Given the description of an element on the screen output the (x, y) to click on. 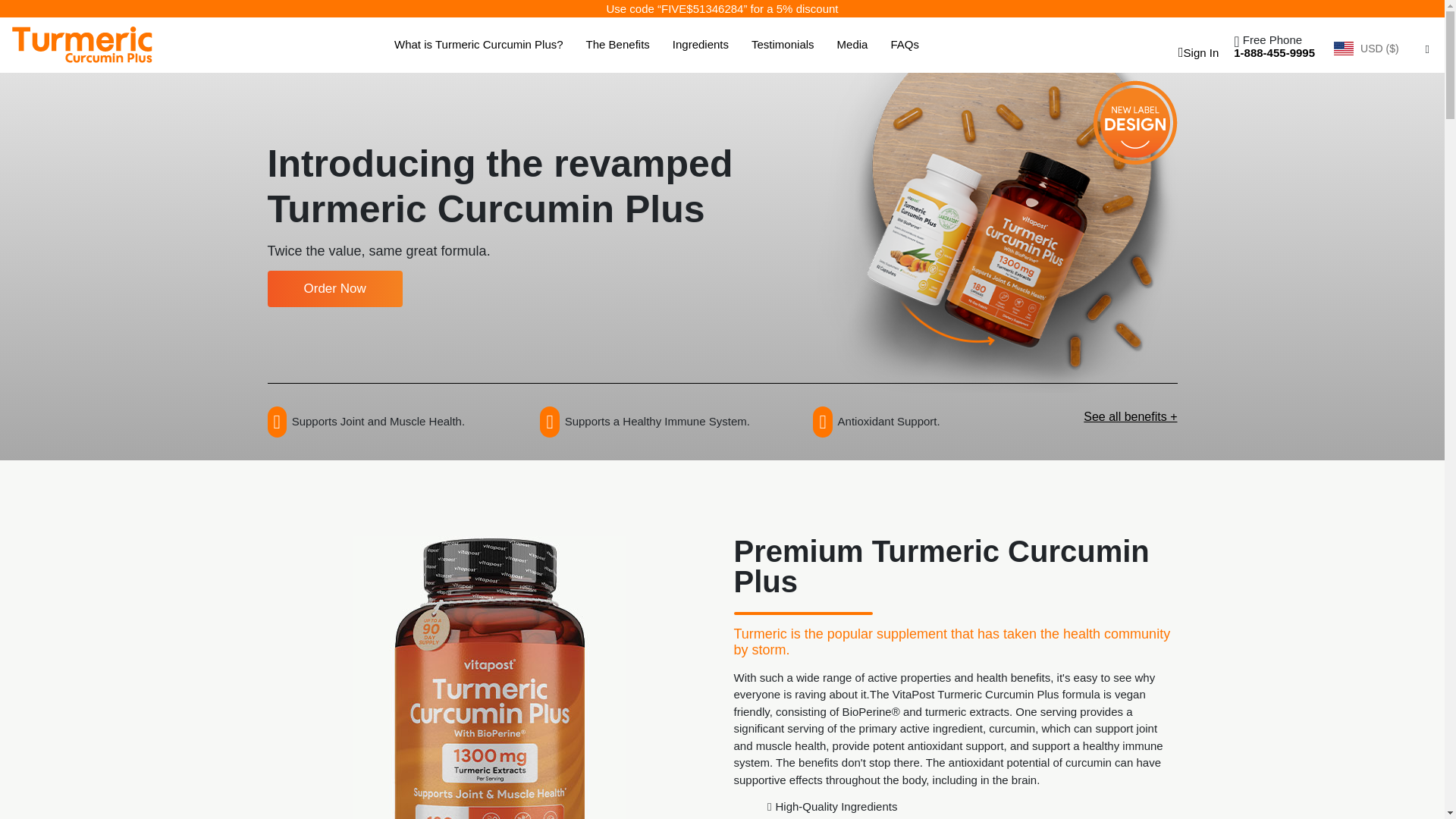
Sign In (1195, 51)
Testimonials (782, 45)
FAQs (903, 45)
Turmeric Curcumin Plus Official Logo (81, 44)
What is Turmeric Curcumin Plus? (478, 45)
The Benefits (617, 45)
1-888-455-9995 (1273, 51)
Order Now (333, 289)
Media (852, 45)
Ingredients (700, 45)
